Given the description of an element on the screen output the (x, y) to click on. 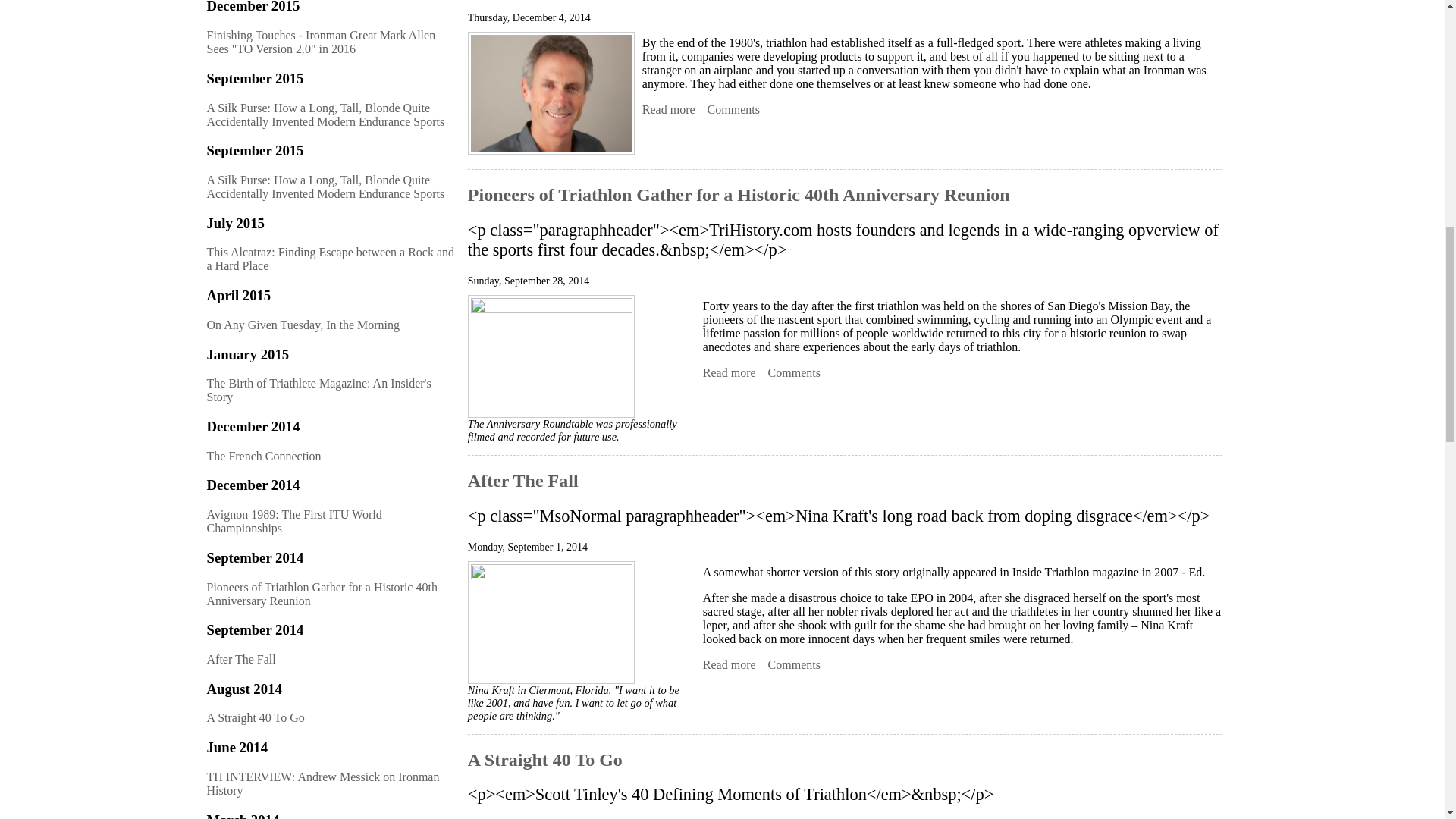
Avignon 1989: The First ITU World Championships (668, 110)
After The Fall  (729, 664)
TriHistory's 40th Anniversary Roundtable  (550, 355)
Nina Craft in 2014  (550, 622)
